Given the description of an element on the screen output the (x, y) to click on. 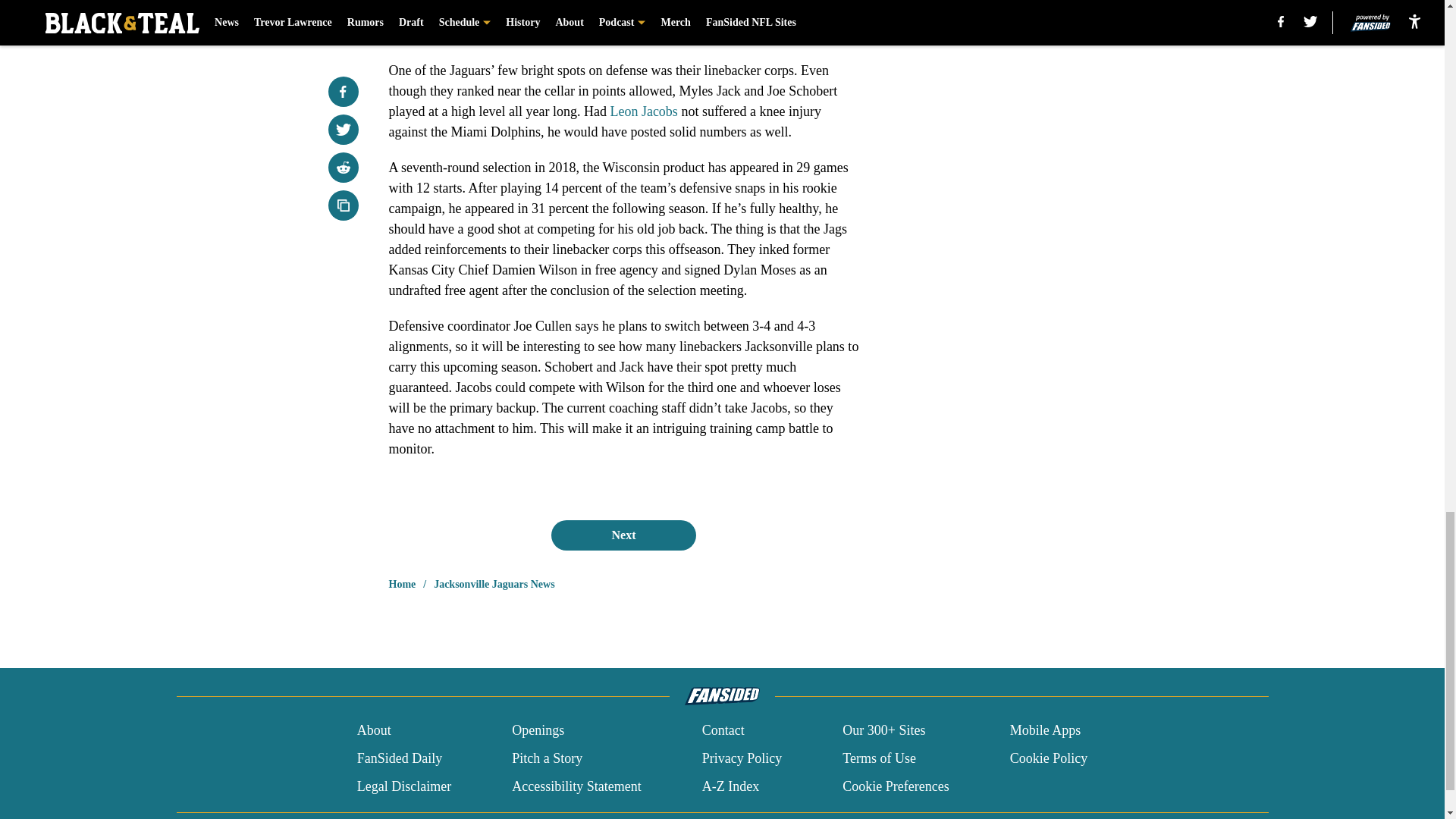
FanSided Daily (399, 758)
Pitch a Story (547, 758)
Openings (538, 730)
Mobile Apps (1045, 730)
Home (401, 584)
Leon Jacobs (643, 111)
About (373, 730)
Terms of Use (879, 758)
Privacy Policy (742, 758)
Contact (722, 730)
